Given the description of an element on the screen output the (x, y) to click on. 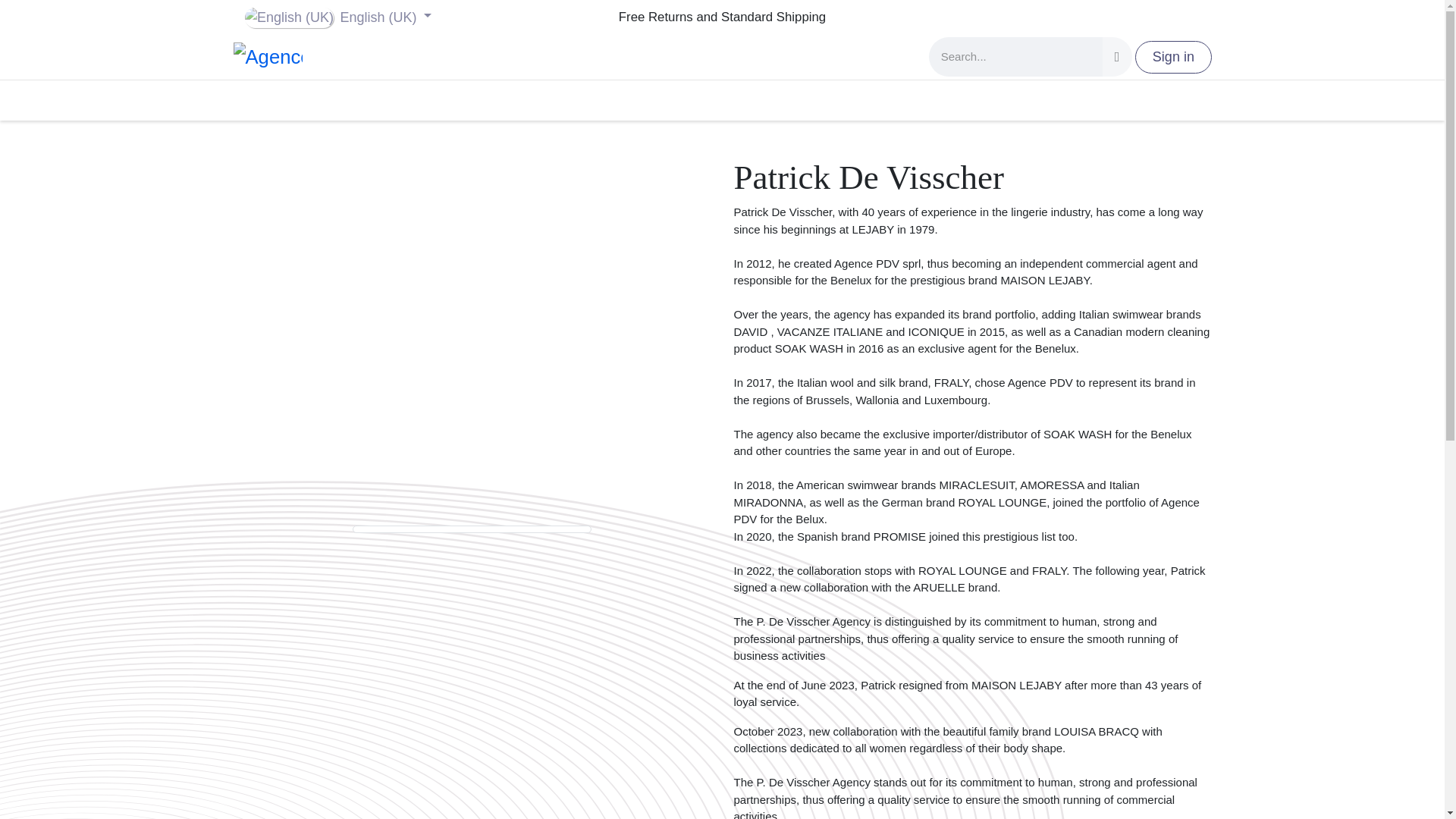
Agence P. De Visscher SRL (267, 57)
Sign in (1173, 56)
